Given the description of an element on the screen output the (x, y) to click on. 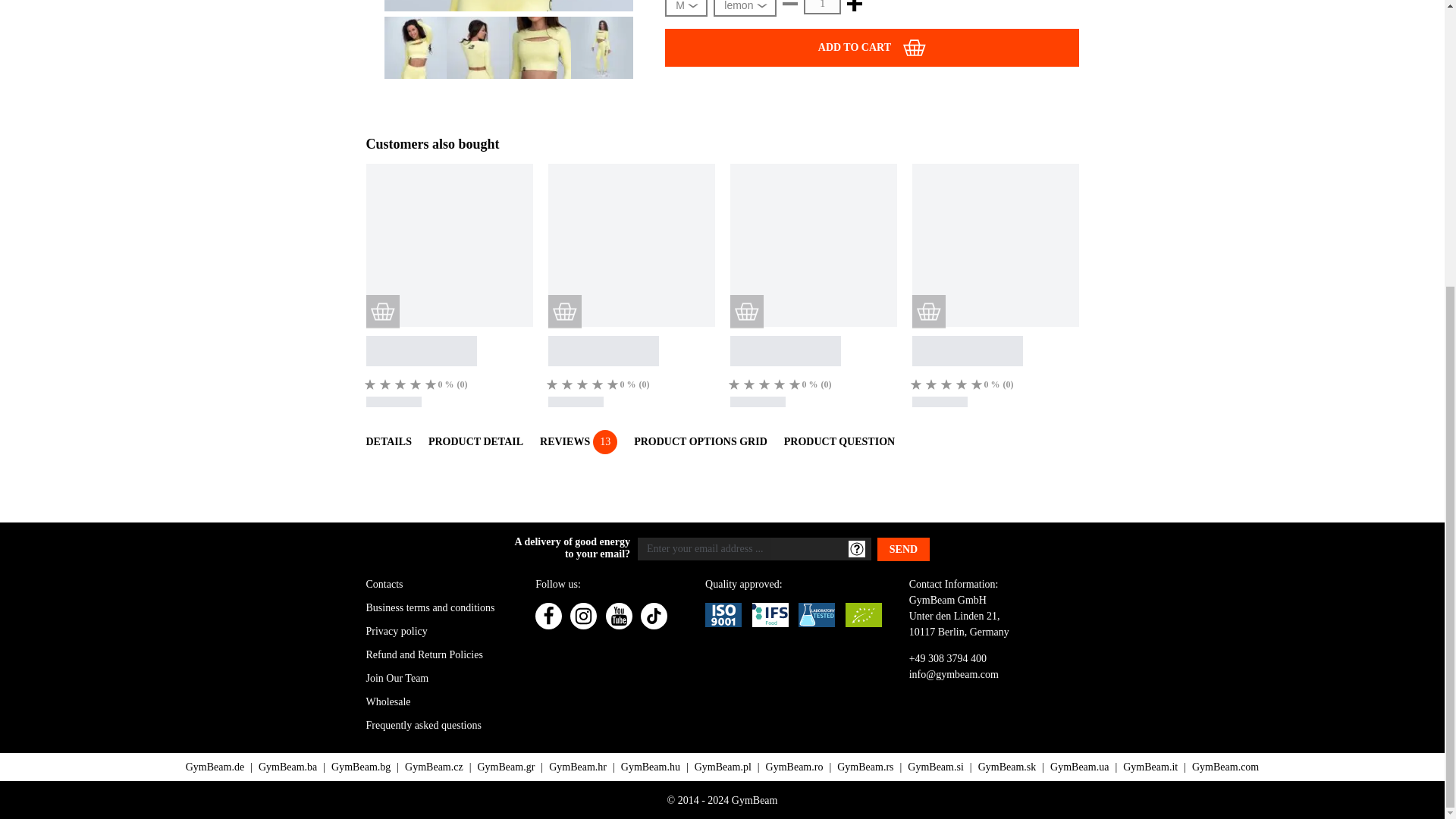
Add to Cart (563, 311)
Add to Cart (927, 311)
0 (369, 384)
1 (822, 7)
Add to Cart (871, 47)
Add to Cart (381, 311)
Add to Cart (745, 311)
